Given the description of an element on the screen output the (x, y) to click on. 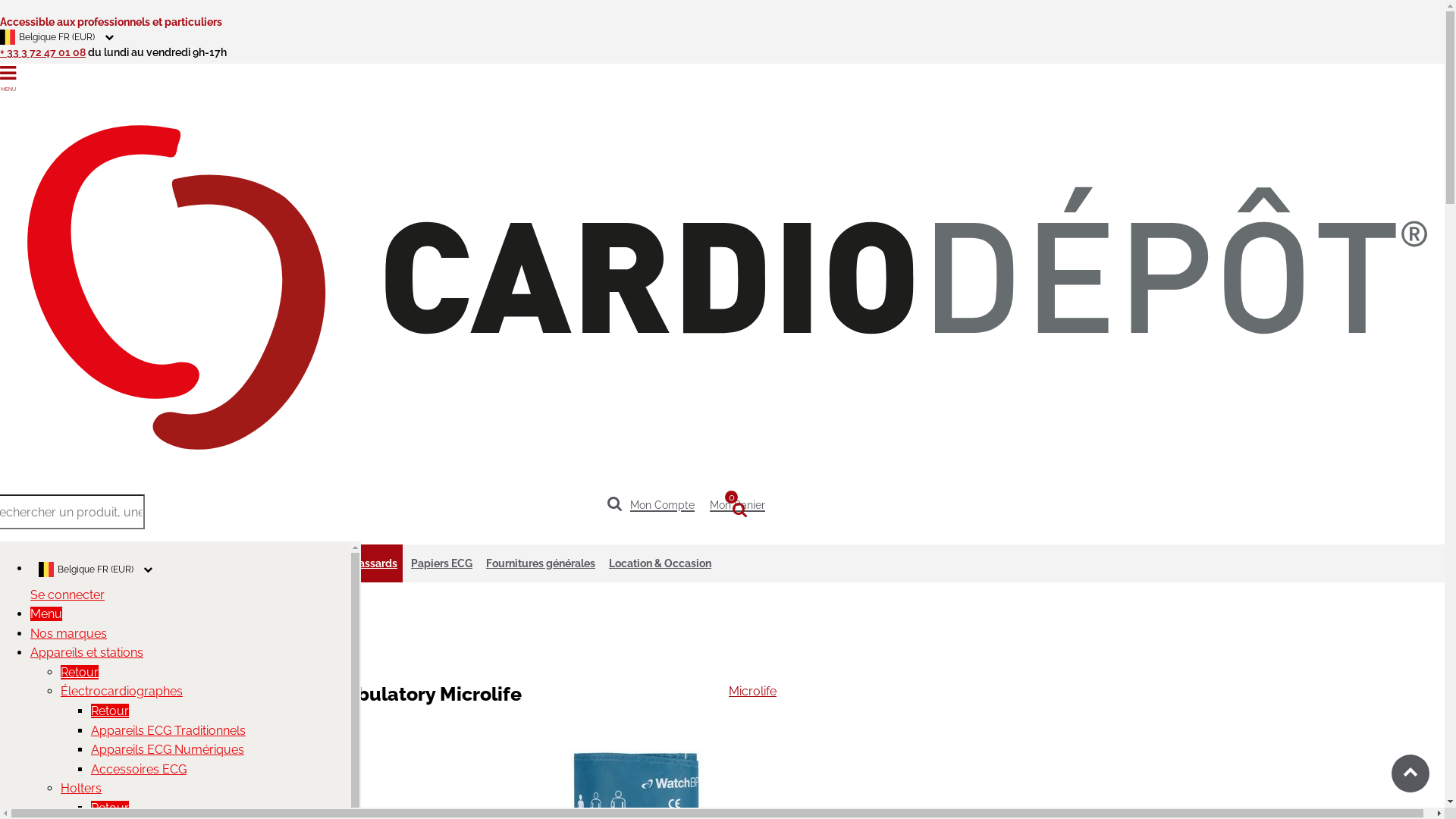
Retour Element type: text (79, 672)
0
Mon Panier Element type: text (741, 502)
Nos marques Element type: text (68, 633)
Holters Element type: text (80, 788)
Nos marques Element type: text (68, 563)
Appareils et stations Element type: text (86, 652)
Mon Compte Element type: text (666, 502)
Accueil Element type: text (51, 601)
Microlife Element type: text (752, 691)
Accessoires ECG Element type: text (138, 769)
+ 33 3 72 47 01 08 Element type: text (42, 52)
Appareils ECG Traditionnels Element type: text (168, 730)
Appareils et stations Element type: text (166, 563)
Belgique FR (EUR) Element type: text (190, 569)
MENU Element type: text (388, 74)
Retour Element type: text (109, 710)
Papiers ECG Element type: text (441, 563)
Retour Element type: text (109, 807)
Se connecter Element type: text (67, 593)
Belgique FR (EUR) Element type: text (388, 36)
Location & Occasion Element type: text (659, 563)
